Given the description of an element on the screen output the (x, y) to click on. 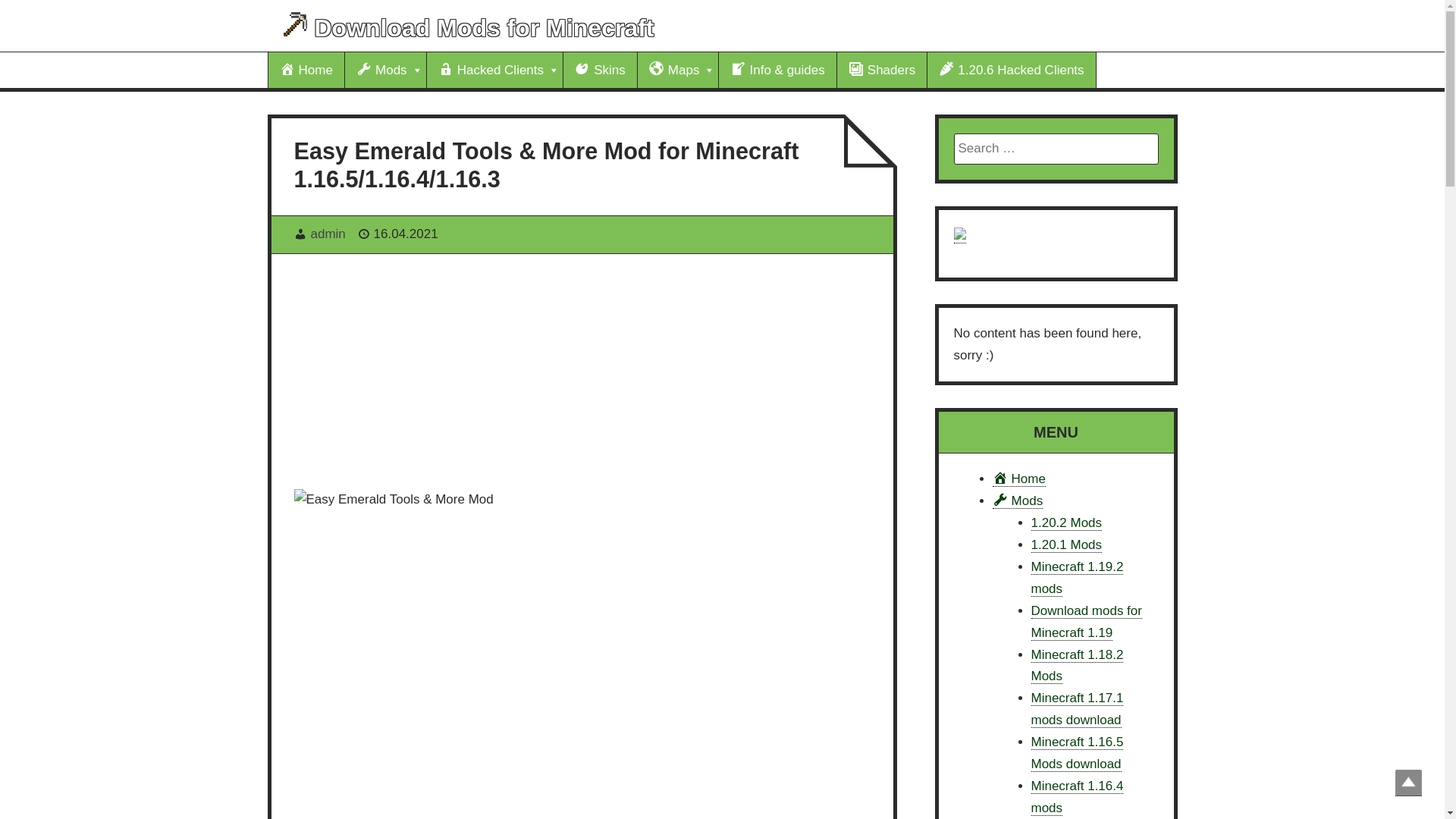
Shaders (882, 69)
Maps (678, 69)
1.20.6 Hacked Clients (1011, 69)
Mods (385, 69)
Skins (600, 69)
admin (328, 233)
Hacked Clients (494, 69)
Download Mods for Minecraft (483, 27)
Posts by admin (328, 233)
Home (306, 69)
